Given the description of an element on the screen output the (x, y) to click on. 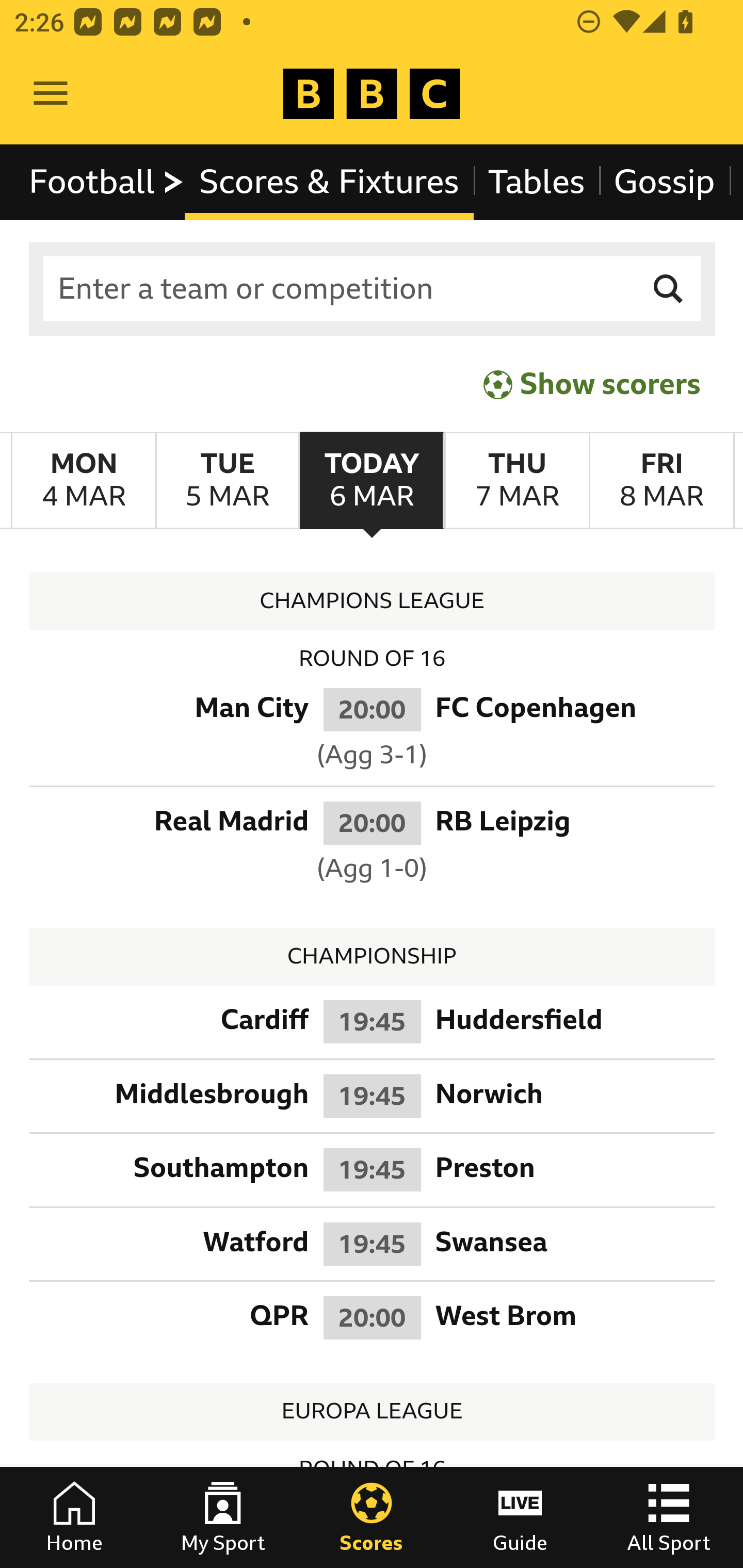
Open Menu (50, 93)
Football  (106, 181)
Scores & Fixtures (329, 181)
Tables (536, 181)
Gossip (664, 181)
Search (669, 289)
Show scorers (591, 383)
MondayMarch 4th Monday March 4th (83, 480)
TuesdayMarch 5th Tuesday March 5th (227, 480)
ThursdayMarch 7th Thursday March 7th (516, 480)
FridayMarch 8th Friday March 8th (661, 480)
Home (74, 1517)
My Sport (222, 1517)
Guide (519, 1517)
All Sport (668, 1517)
